Given the description of an element on the screen output the (x, y) to click on. 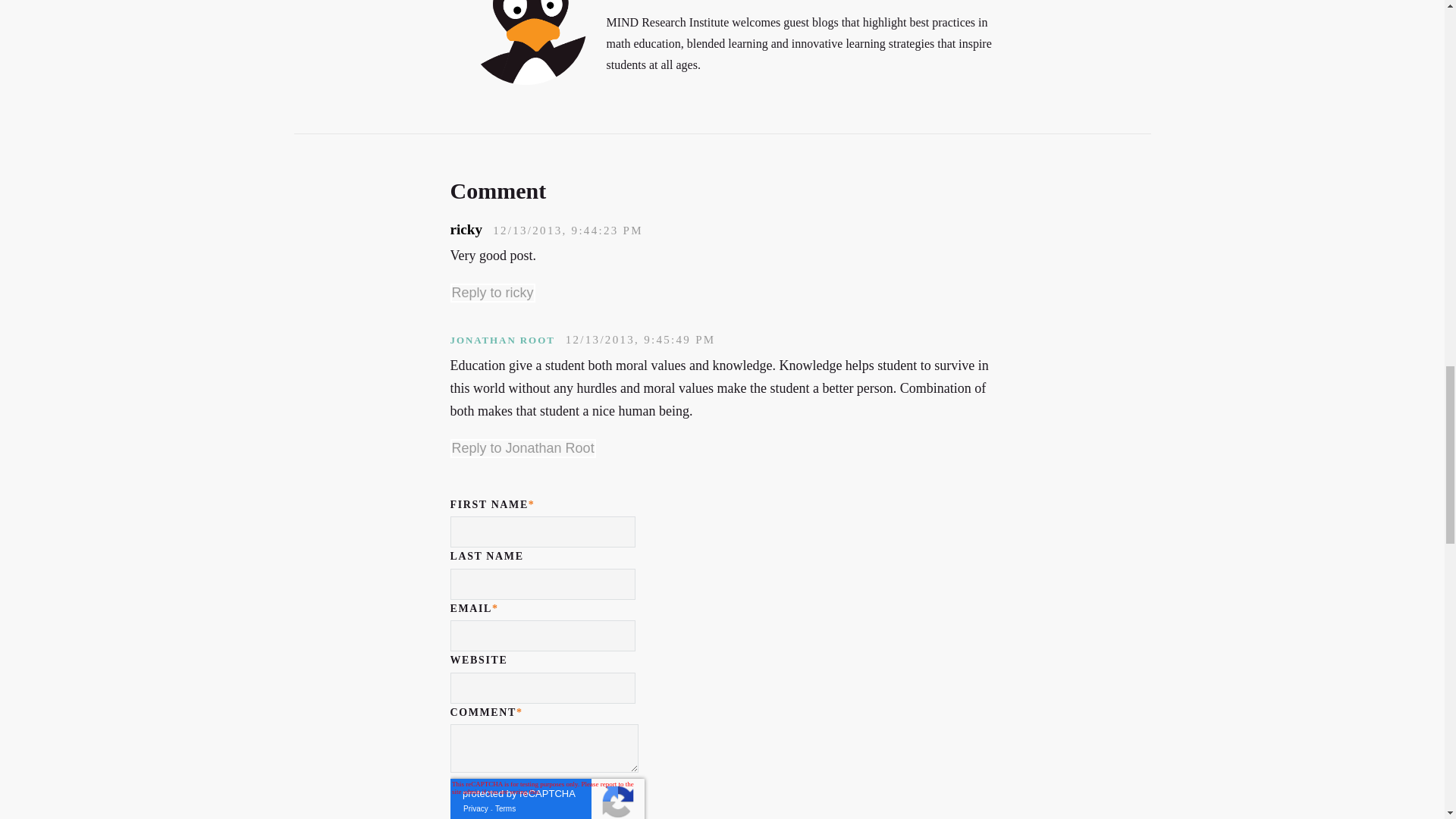
Reply to ricky (492, 292)
reCAPTCHA (547, 798)
